Given the description of an element on the screen output the (x, y) to click on. 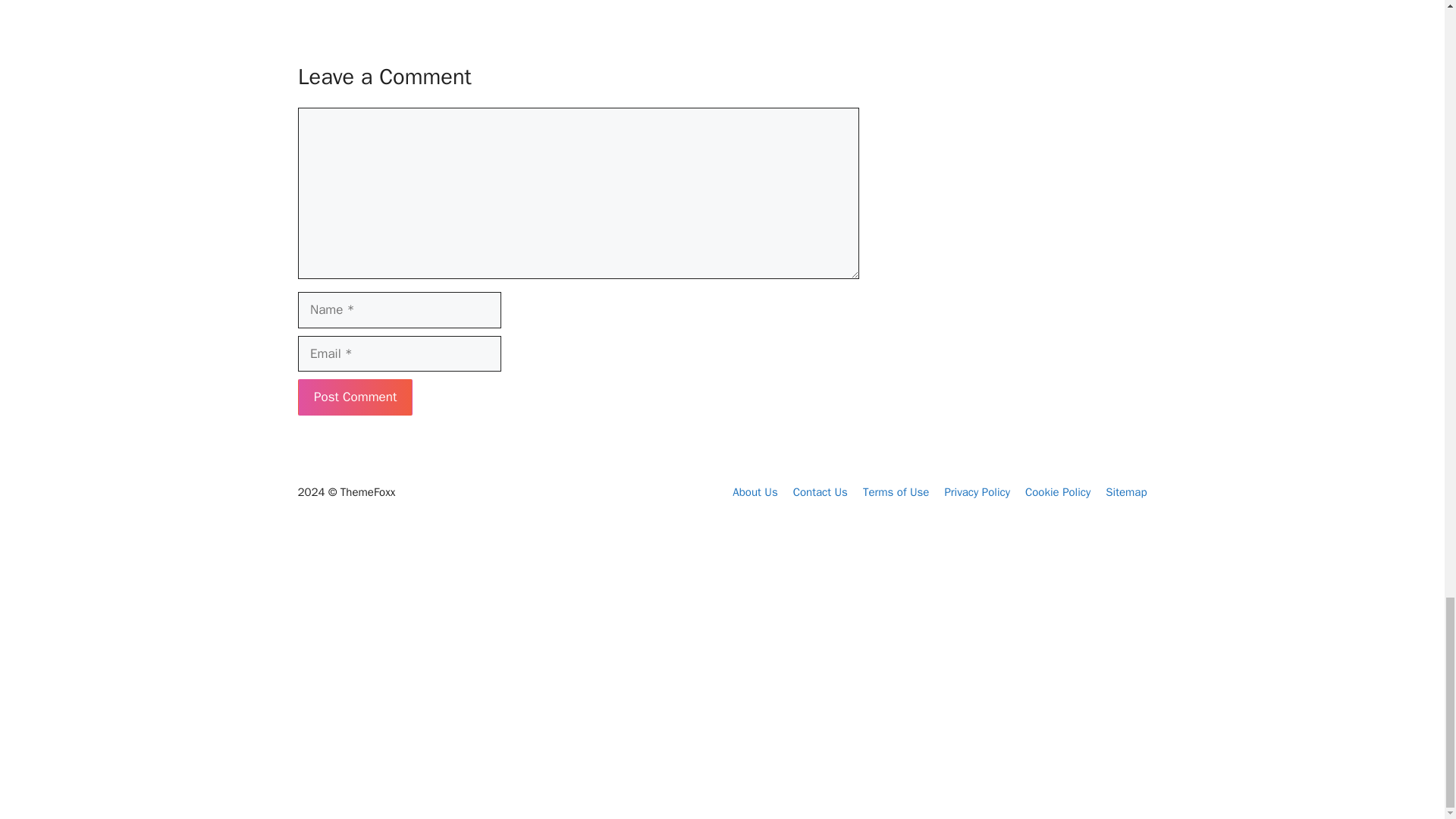
Download iOS 11.2 Stock Wallpapers 9 (546, 657)
Download iOS 11.2 Stock Wallpapers (554, 677)
Download iPad Pro 2017 Stock Wallpapers (364, 698)
Download iPad Pro 2017 Stock Wallpapers 8 (364, 667)
